Given the description of an element on the screen output the (x, y) to click on. 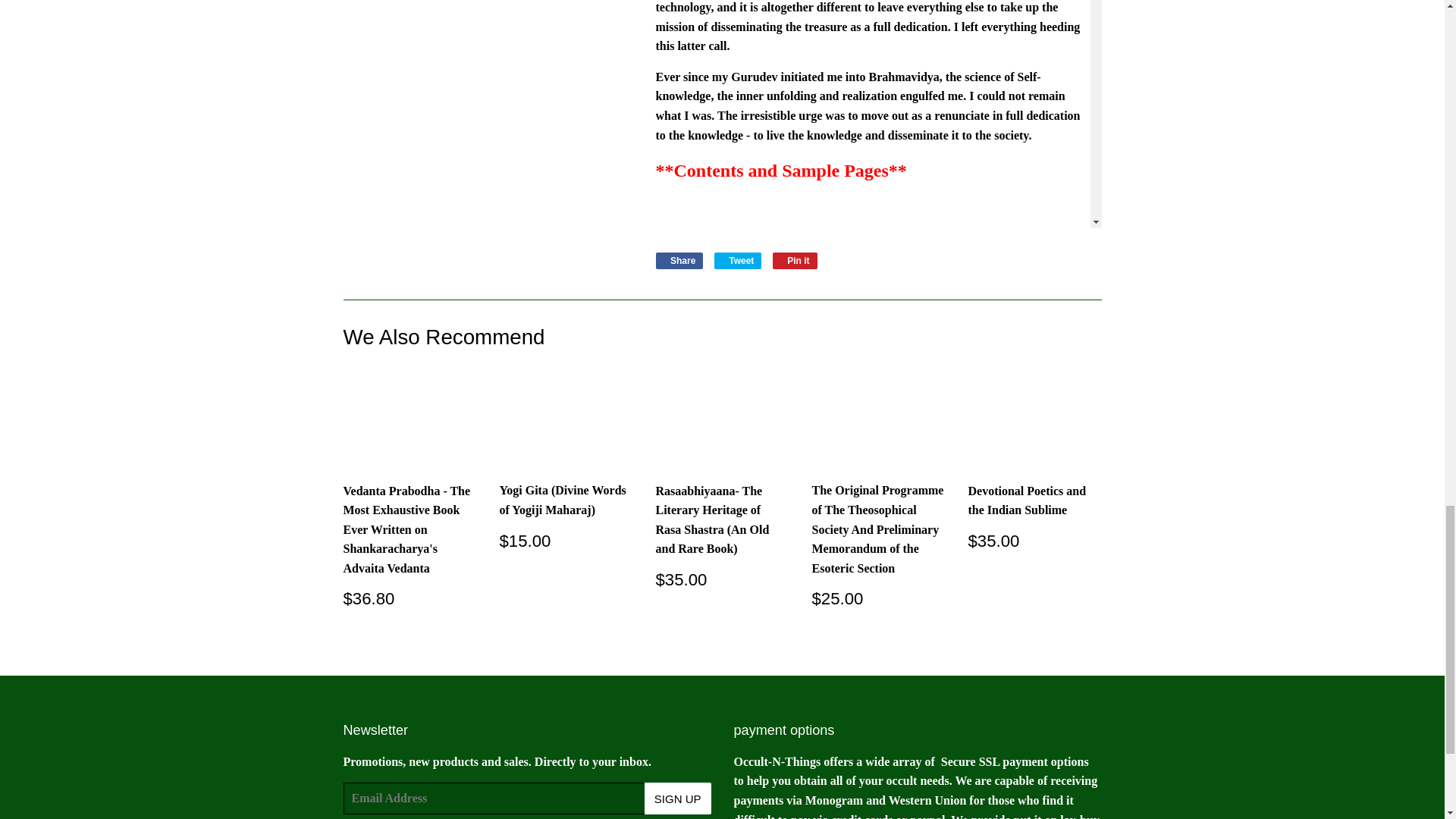
Tweet on Twitter (737, 260)
Pin on Pinterest (679, 260)
Share on Facebook (737, 260)
